Given the description of an element on the screen output the (x, y) to click on. 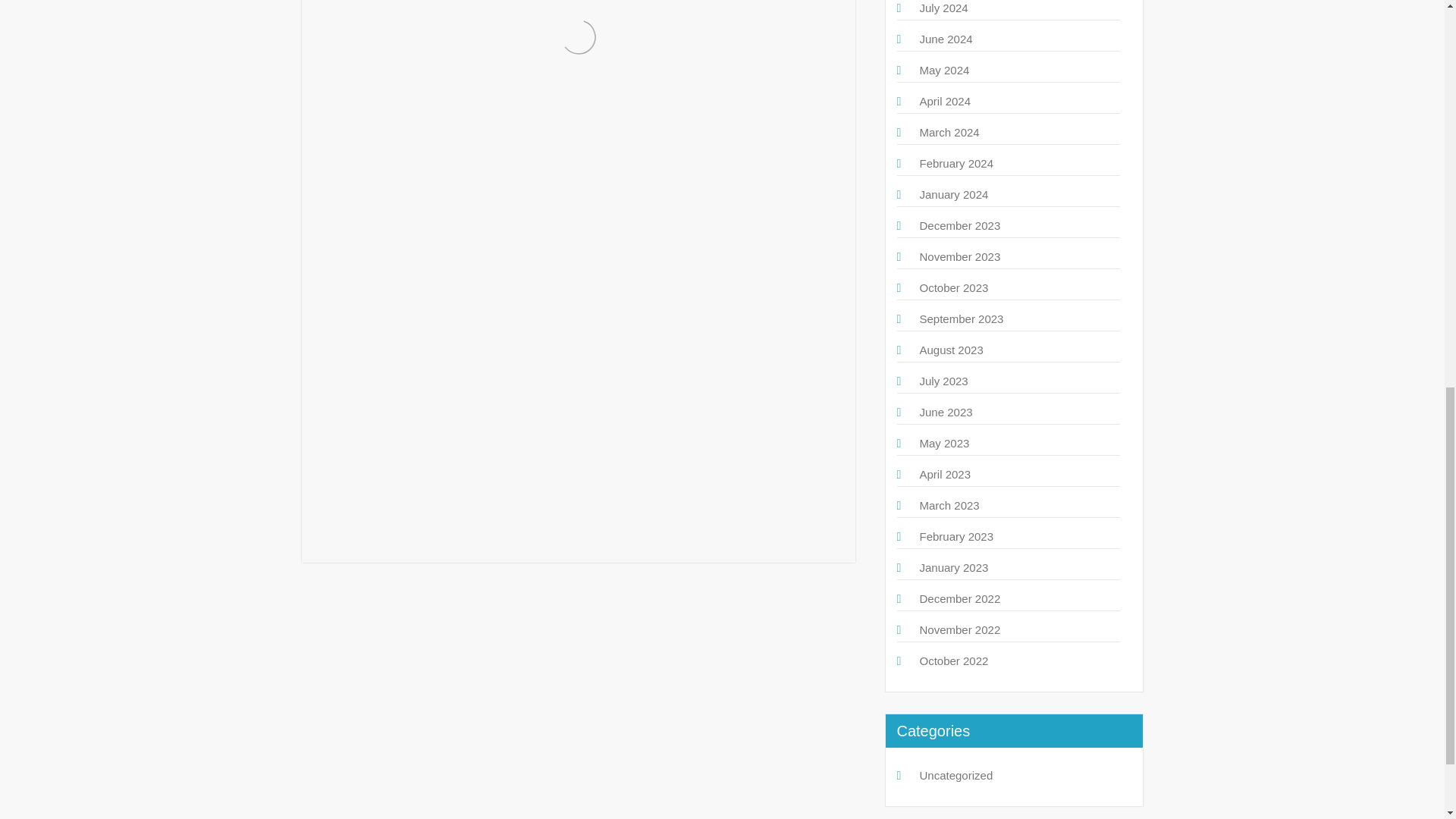
July 2023 (943, 380)
December 2022 (959, 598)
Uncategorized (955, 775)
December 2023 (959, 225)
January 2024 (953, 194)
January 2023 (953, 567)
September 2023 (960, 318)
April 2024 (944, 101)
October 2023 (953, 287)
May 2023 (943, 442)
